Given the description of an element on the screen output the (x, y) to click on. 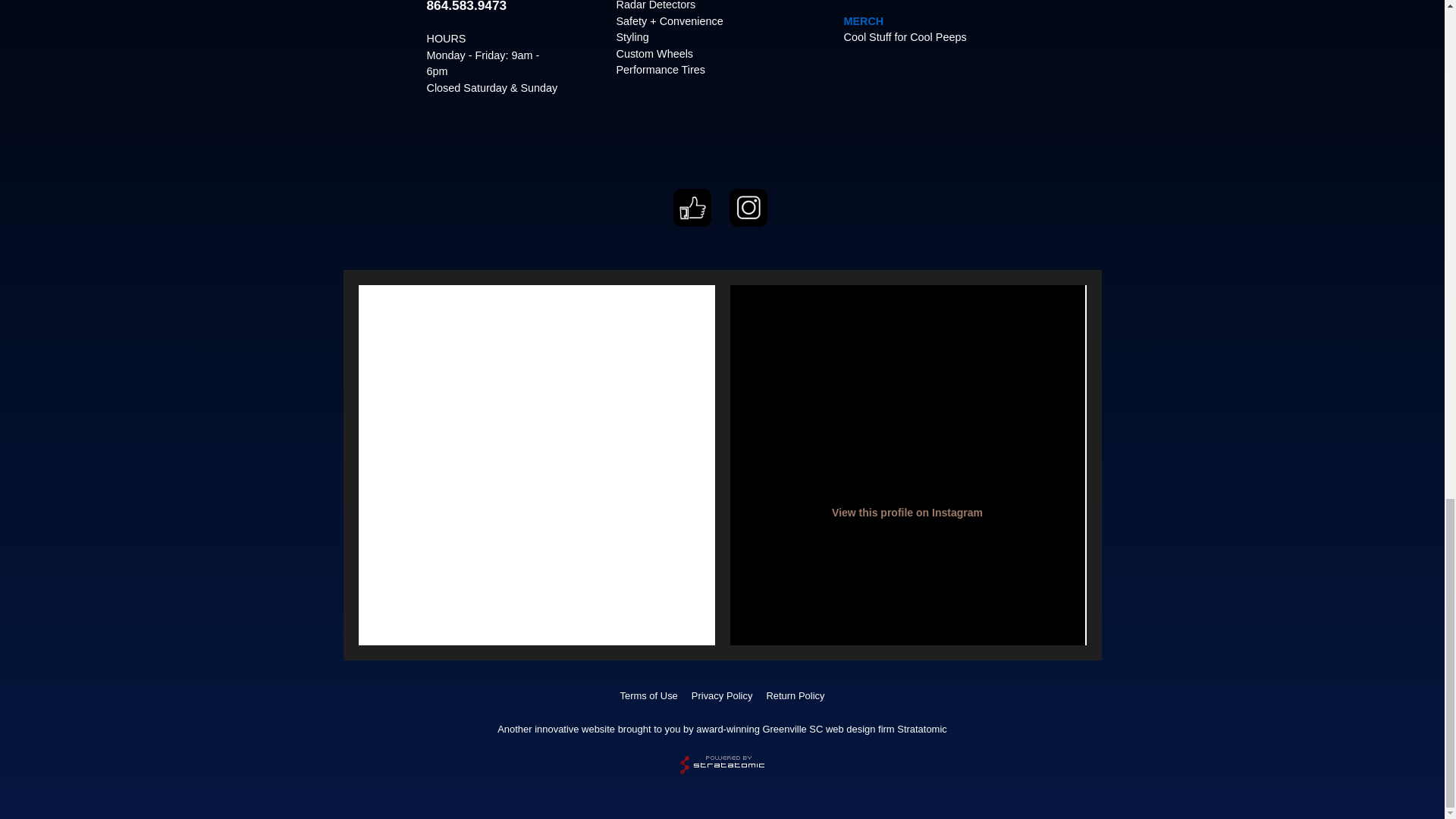
Like Elite Audio on Facebook (692, 223)
Follow Elite Audio on Instagram (748, 223)
